Given the description of an element on the screen output the (x, y) to click on. 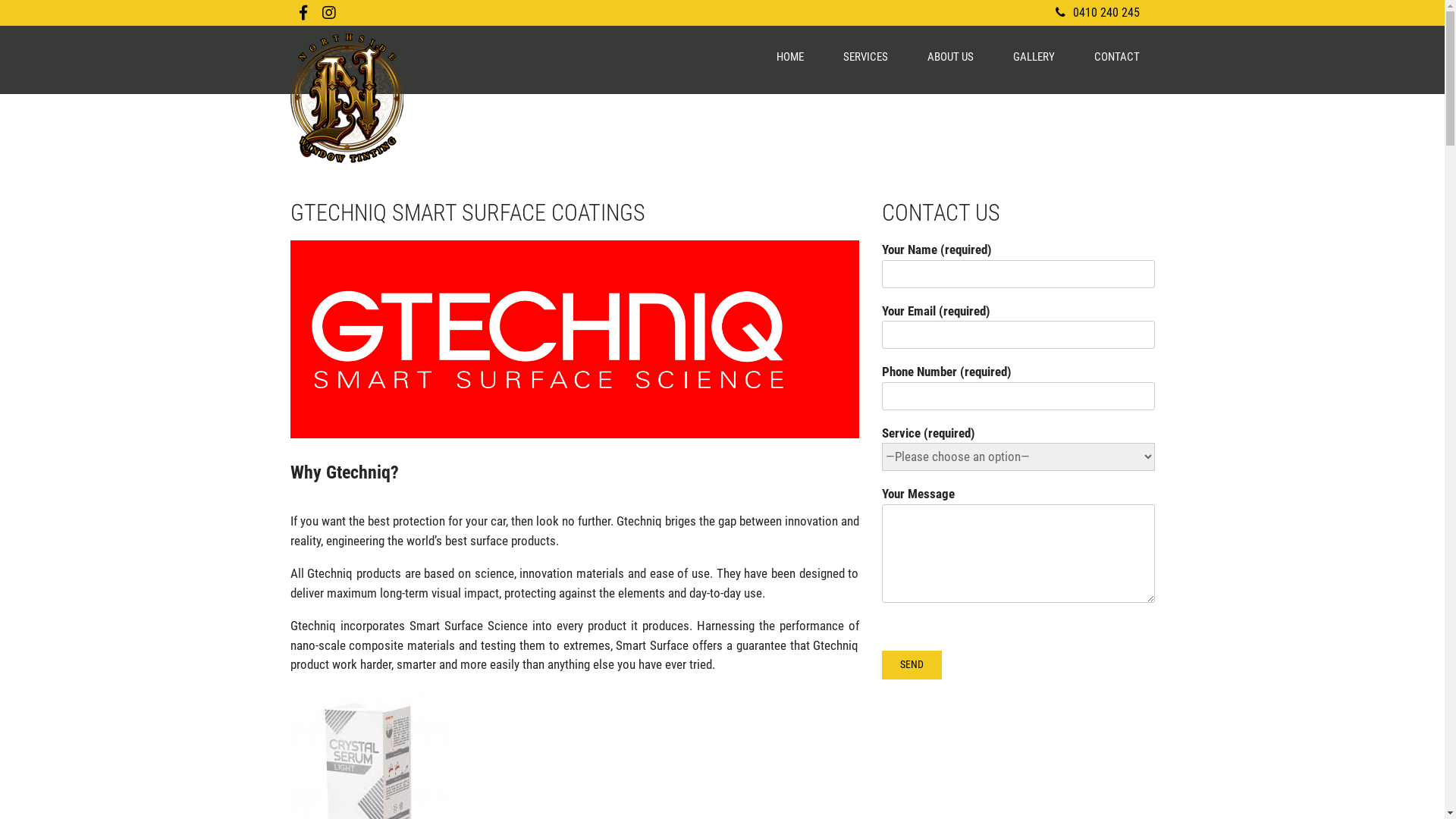
Facebook Element type: hover (302, 12)
HOME Element type: text (789, 56)
CONTACT Element type: text (1116, 56)
Instagram Element type: hover (327, 12)
SERVICES Element type: text (864, 56)
Facebook Element type: hover (302, 12)
ABOUT US Element type: text (950, 56)
GALLERY Element type: text (1032, 56)
Instagram Element type: hover (328, 12)
0410 240 245 Element type: text (1097, 12)
Send Element type: text (911, 664)
